Given the description of an element on the screen output the (x, y) to click on. 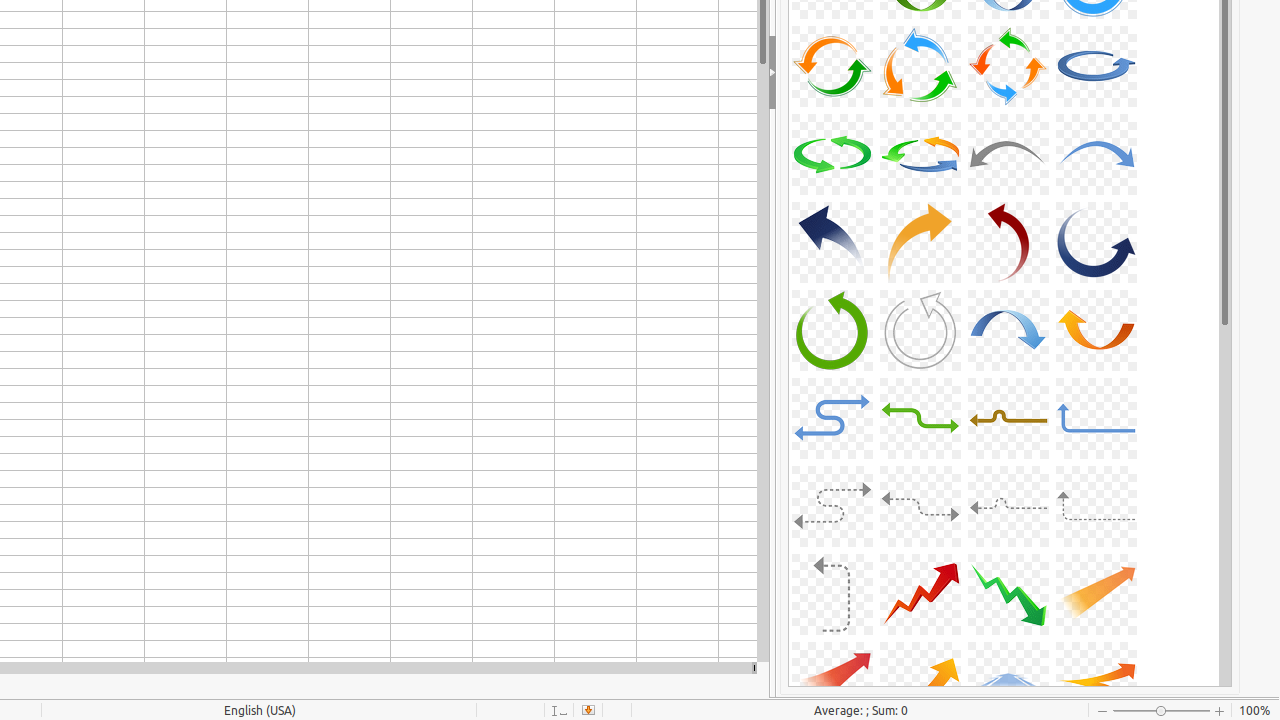
A27-CurvedArrow-DarkRed Element type: list-item (1008, 242)
A31-CurvedArrow-LightBlue Element type: list-item (1008, 330)
A42-TrendArrow-Red-GoUp Element type: list-item (920, 594)
A29-CurvedArrow-Green Element type: list-item (832, 330)
A24-CurvedArrow-LightBlue-Right Element type: list-item (1096, 154)
